Given the description of an element on the screen output the (x, y) to click on. 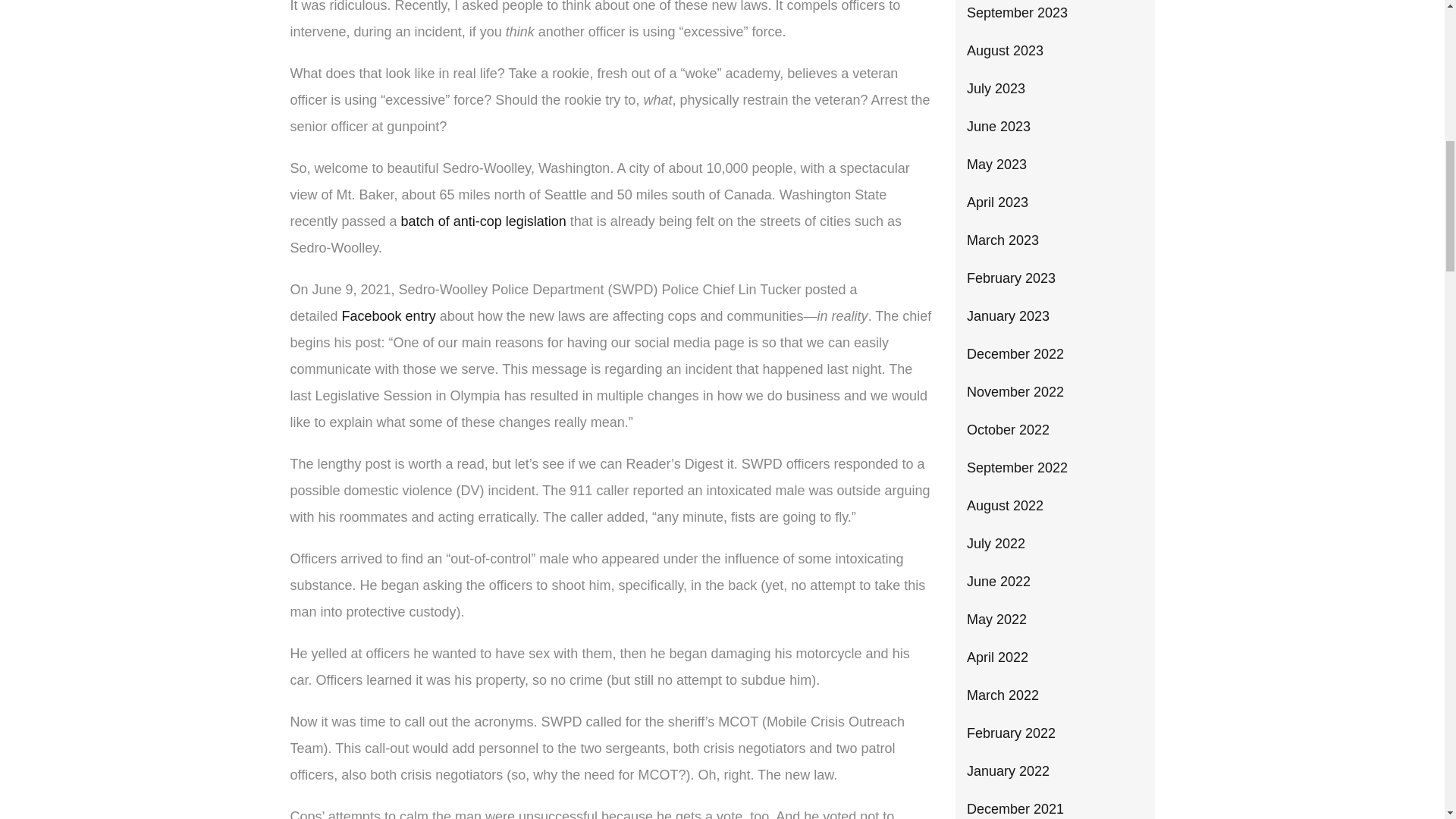
Facebook entry (388, 315)
March 2023 (1002, 240)
May 2023 (996, 164)
June 2023 (998, 126)
August 2023 (1004, 50)
April 2023 (996, 201)
July 2023 (995, 88)
batch of anti-cop legislation (483, 221)
September 2023 (1016, 12)
